Given the description of an element on the screen output the (x, y) to click on. 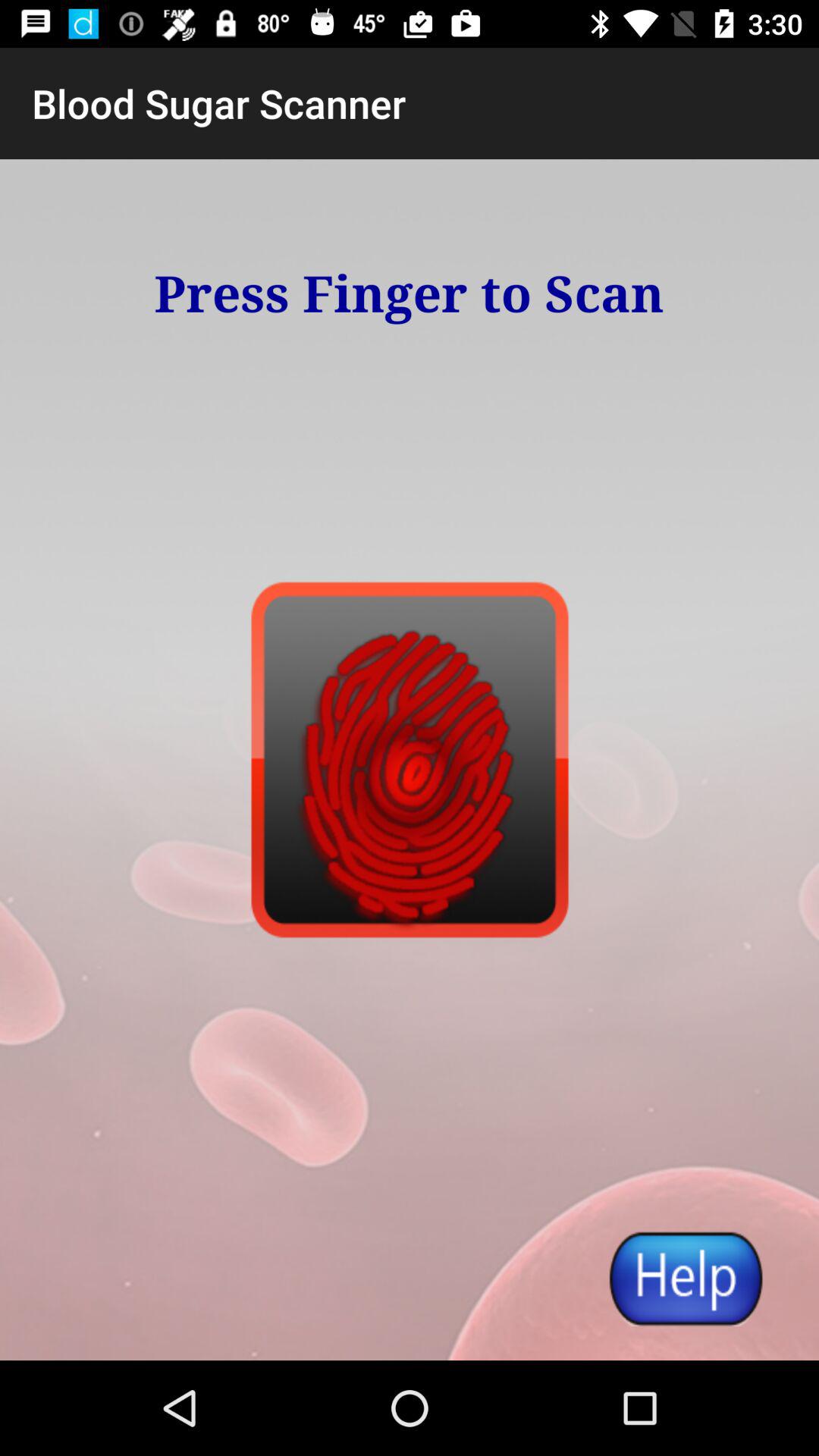
request help (684, 1278)
